Given the description of an element on the screen output the (x, y) to click on. 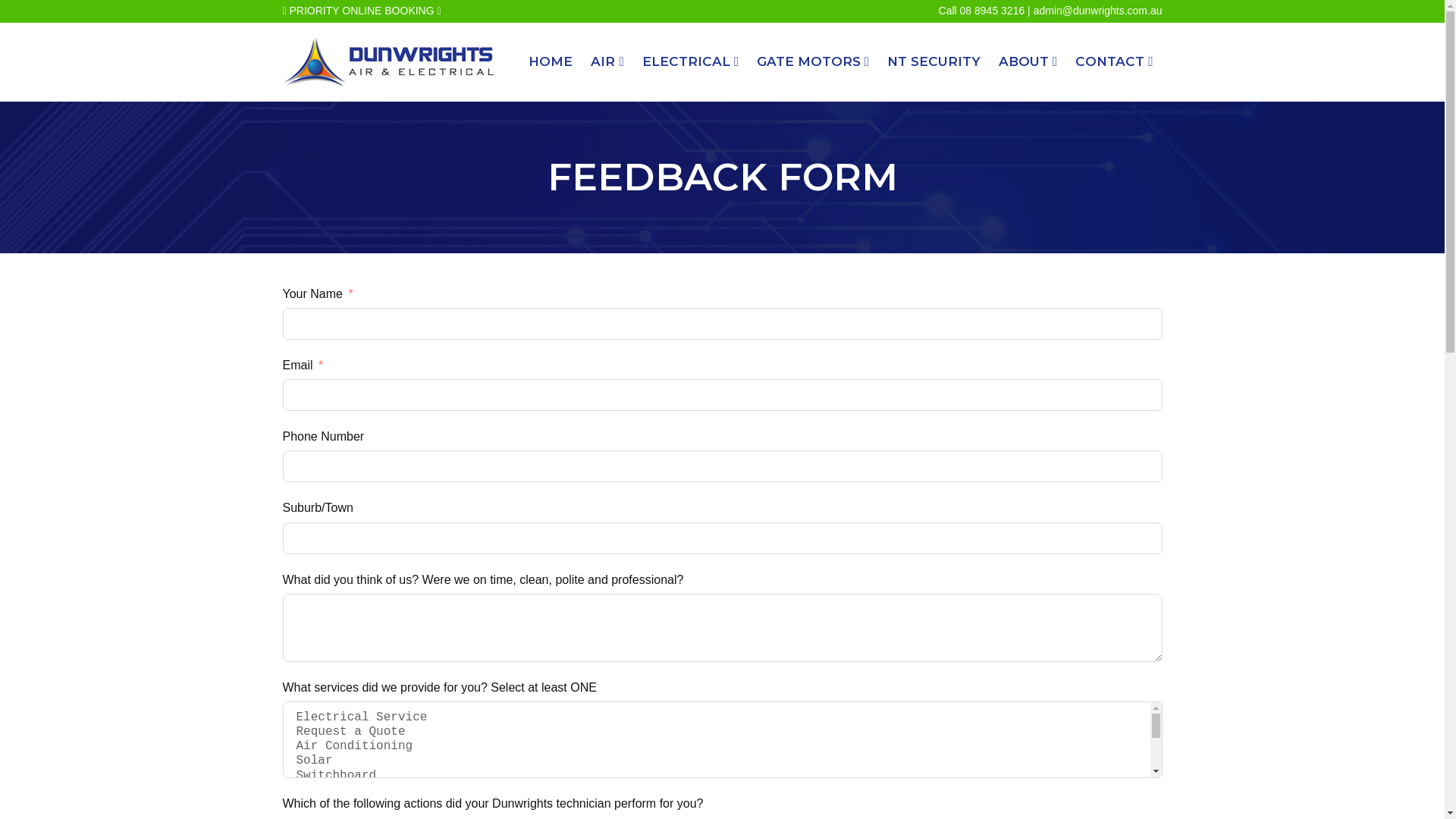
NT SECURITY Element type: text (933, 61)
Call 08 8945 3216 Element type: text (981, 10)
admin@dunwrights.com.au Element type: text (1097, 10)
ELECTRICAL Element type: text (690, 61)
AIR Element type: text (606, 61)
CONTACT Element type: text (1113, 61)
GATE MOTORS Element type: text (812, 61)
Dunwrights Air & Electrical | Darwin Electricians Element type: hover (388, 61)
ABOUT Element type: text (1027, 61)
HOME Element type: text (550, 61)
